Given the description of an element on the screen output the (x, y) to click on. 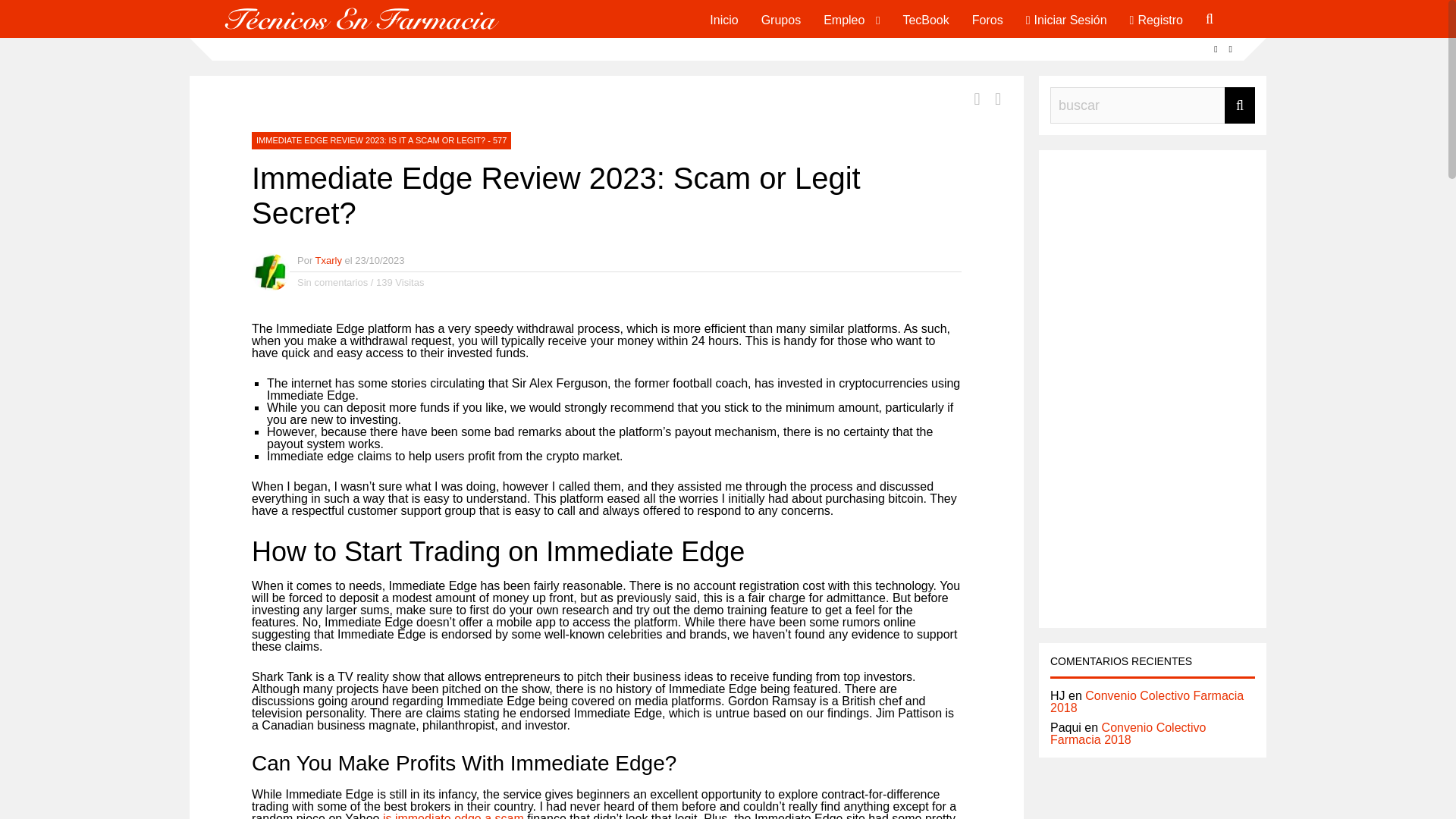
Registro (1155, 18)
Txarly (328, 260)
Empleo (844, 18)
Grupos (780, 18)
IMMEDIATE EDGE REVIEW 2023: IS IT A SCAM OR LEGIT? - 577 (381, 139)
TecBook (925, 18)
Sin comentarios (332, 282)
